Given the description of an element on the screen output the (x, y) to click on. 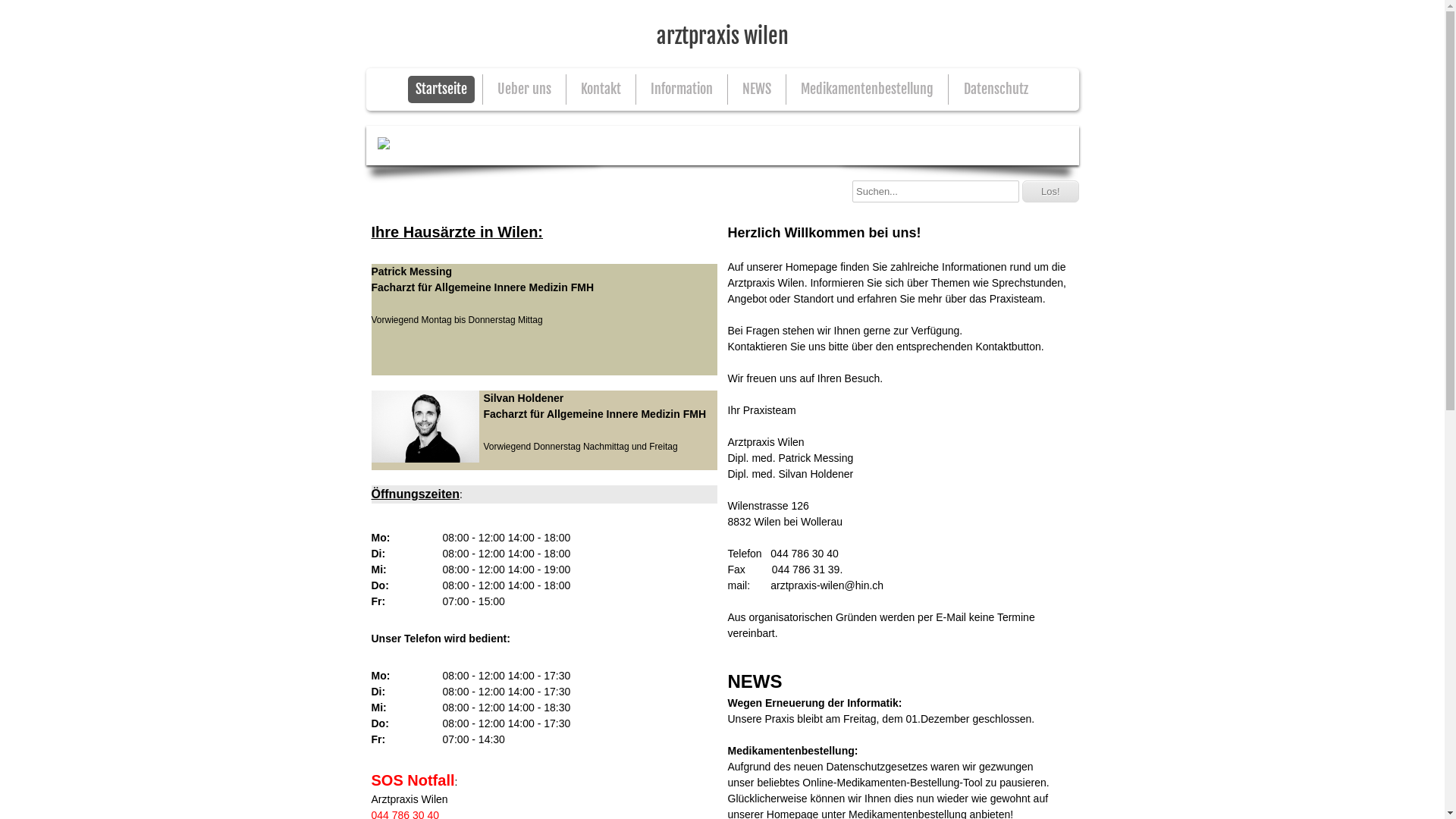
Los! Element type: text (1050, 191)
Kontakt Element type: text (600, 89)
Information Element type: text (681, 89)
Startseite Element type: text (440, 89)
Datenschutz Element type: text (995, 89)
arztpraxis wilen Element type: text (721, 34)
NEWS Element type: text (756, 89)
Ueber uns Element type: text (523, 89)
Medikamentenbestellung Element type: text (867, 89)
